Given the description of an element on the screen output the (x, y) to click on. 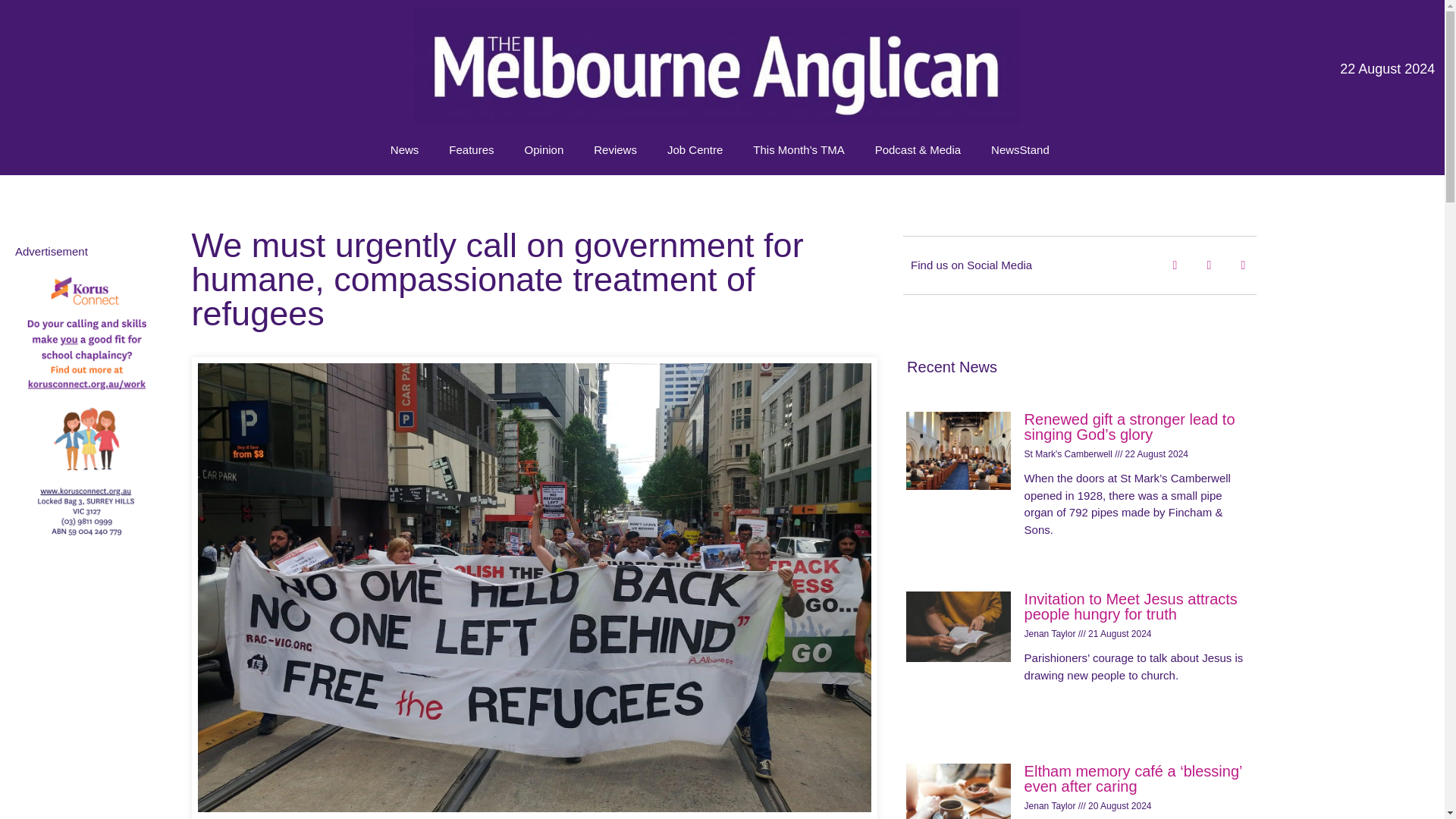
Features (470, 149)
Job Centre (695, 149)
Opinion (544, 149)
NewsStand (1019, 149)
Invitation to Meet Jesus attracts people hungry for truth (1131, 606)
News (404, 149)
Reviews (615, 149)
